Given the description of an element on the screen output the (x, y) to click on. 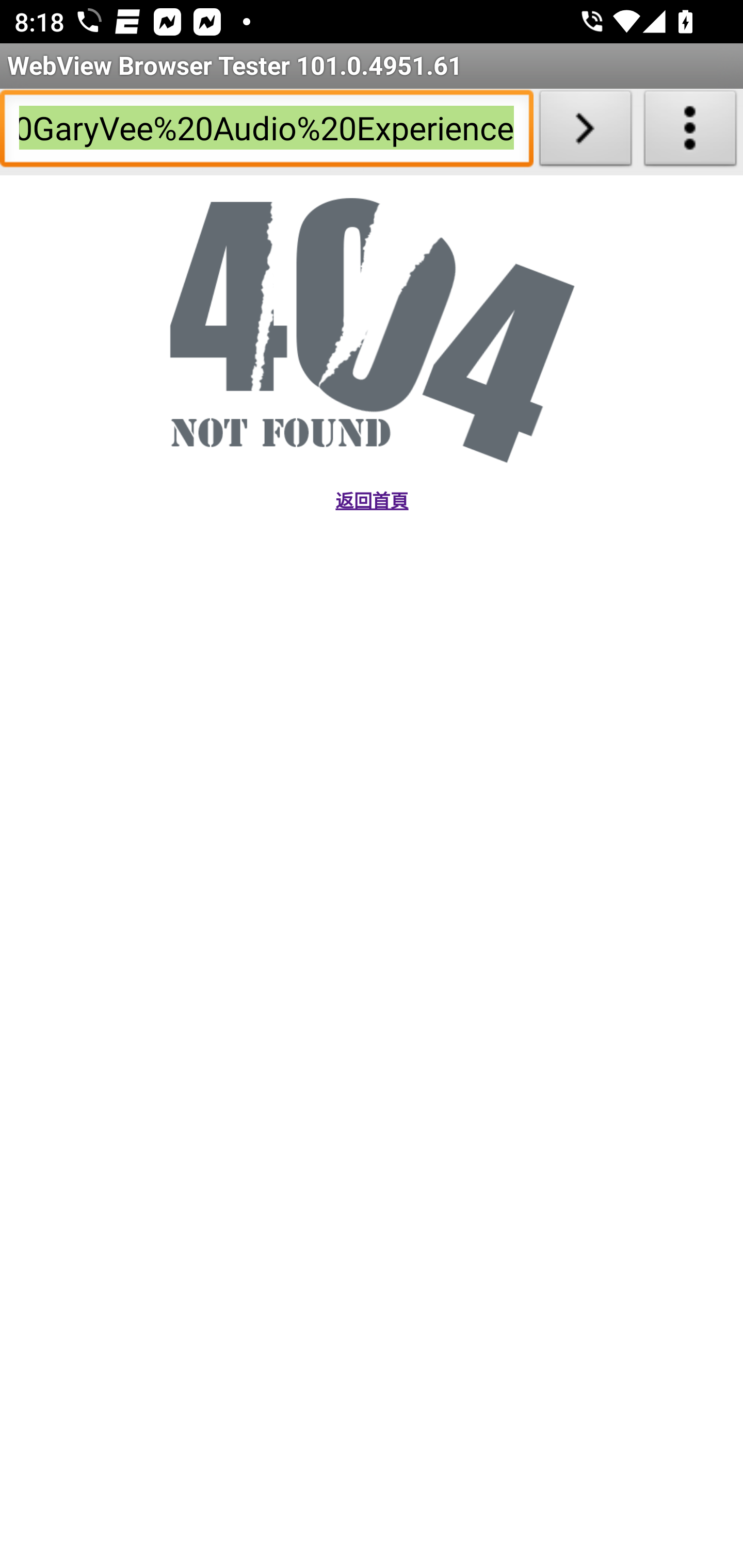
Load URL (585, 132)
About WebView (690, 132)
返回首頁 (370, 500)
